Given the description of an element on the screen output the (x, y) to click on. 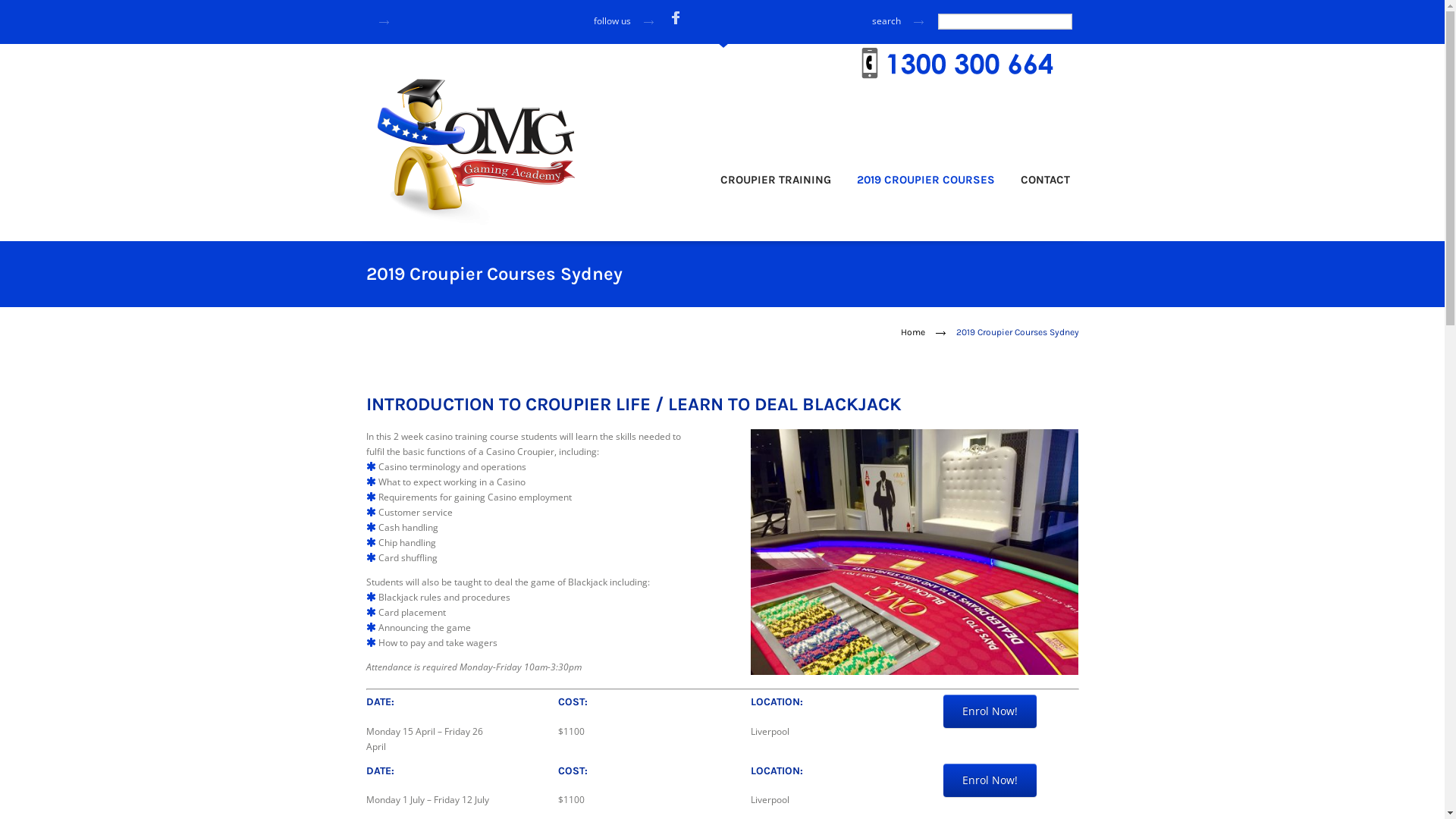
Enrol Now! Element type: text (989, 711)
Enrol Now! Element type: text (989, 780)
2019 CROUPIER COURSES Element type: text (925, 187)
Home Element type: text (912, 331)
CONTACT Element type: text (1045, 187)
CROUPIER TRAINING Element type: text (775, 187)
